Given the description of an element on the screen output the (x, y) to click on. 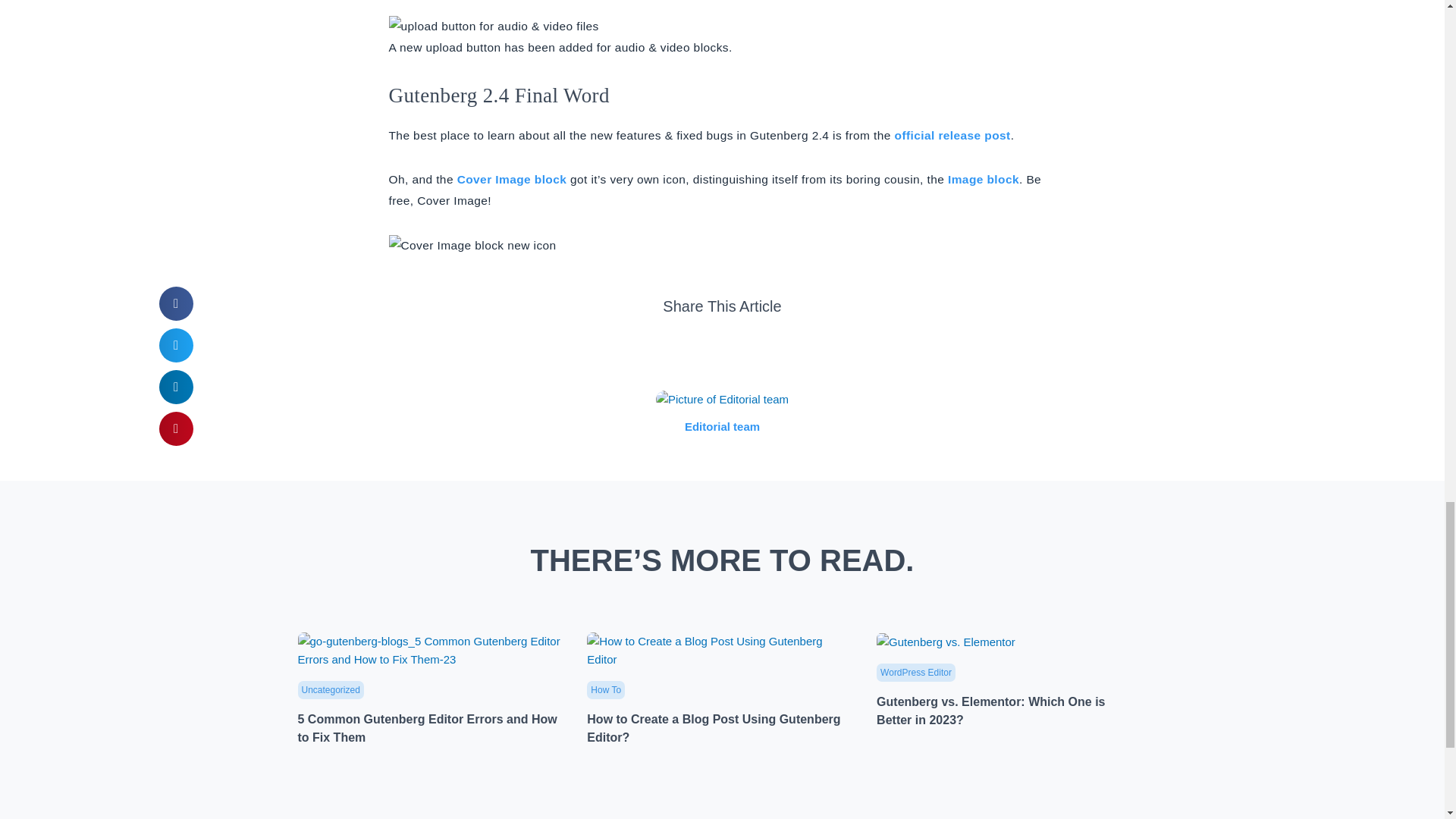
official release post (952, 134)
Gutenberg vs. Elementor (945, 642)
Image block (983, 178)
Editorial team (721, 427)
How to Create a Blog Post Using Gutenberg Editor? (713, 727)
Cover Image block (512, 178)
How to Create a Blog Post Using Gutenberg Editor (719, 650)
5 Common Gutenberg Editor Errors and How to Fix Them (426, 727)
Gutenberg vs. Elementor: Which One is Better in 2023? (945, 640)
How to Create a Blog Post Using Gutenberg Editor? (719, 649)
Gutenberg vs. Elementor: Which One is Better in 2023? (990, 710)
5 Common Gutenberg Editor Errors and How to Fix Them (430, 649)
